Given the description of an element on the screen output the (x, y) to click on. 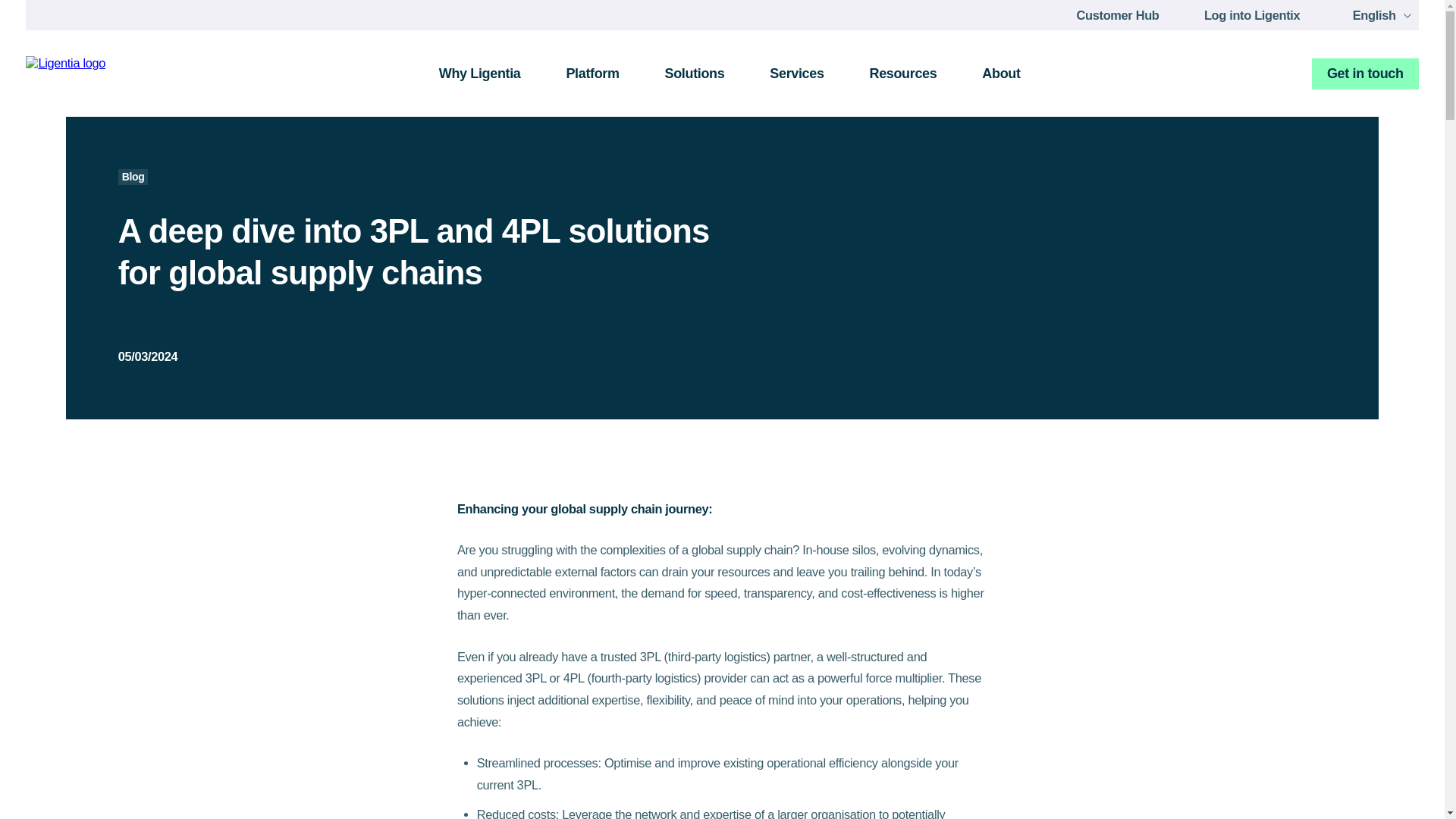
Why Ligentia (479, 73)
Customer Hub (1127, 14)
English (1381, 15)
Services (795, 73)
Solutions (695, 73)
Platform (592, 73)
Log into Ligentix (1261, 14)
